Given the description of an element on the screen output the (x, y) to click on. 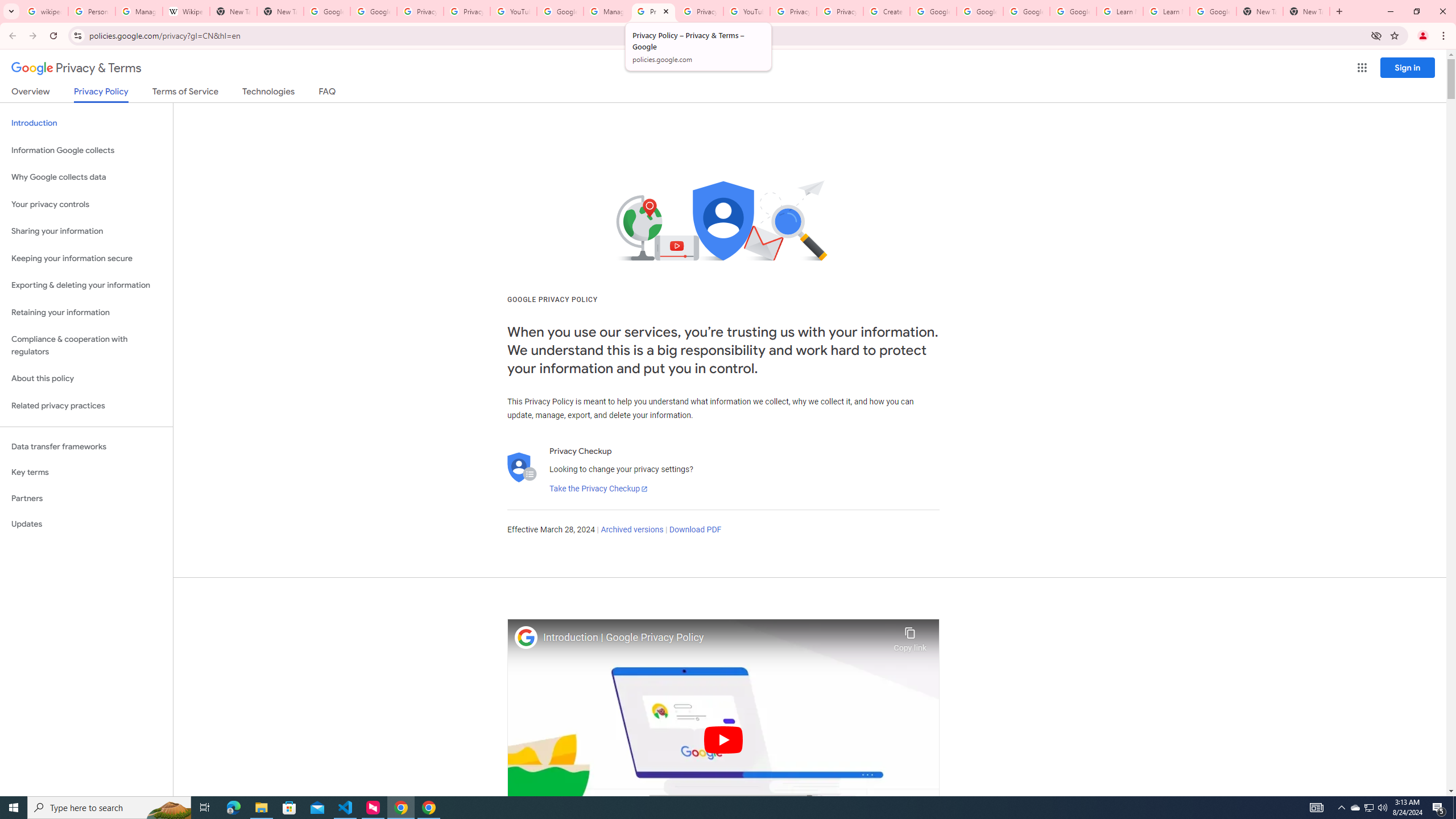
Personalization & Google Search results - Google Search Help (91, 11)
YouTube (745, 11)
Introduction | Google Privacy Policy (715, 637)
New Tab (1306, 11)
